Given the description of an element on the screen output the (x, y) to click on. 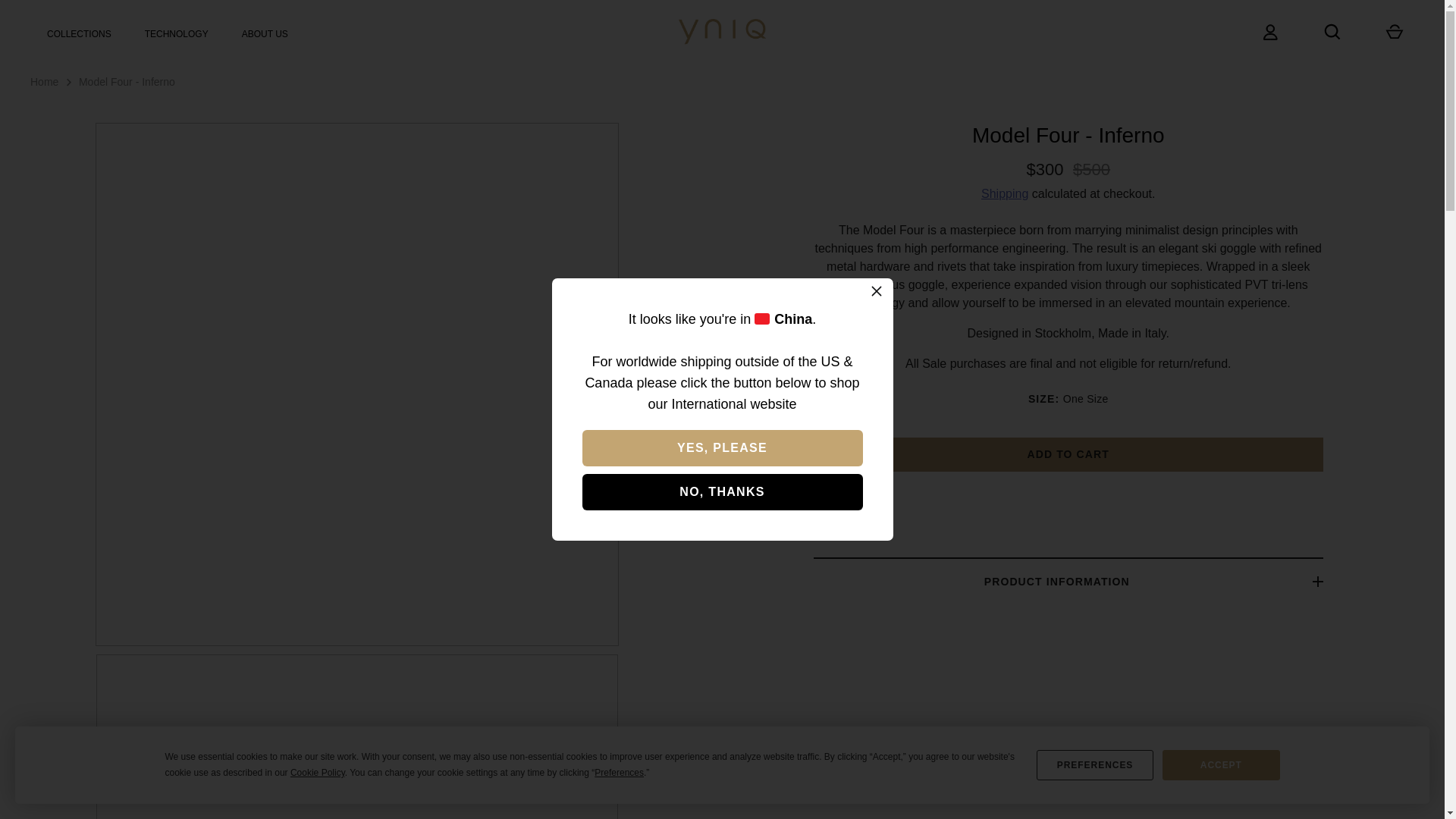
YES, PLEASE (722, 447)
TECHNOLOGY (176, 33)
PREFERENCES (1094, 765)
COLLECTIONS (79, 33)
ABOUT US (264, 33)
ACCEPT (1220, 765)
NO, THANKS (722, 492)
